Given the description of an element on the screen output the (x, y) to click on. 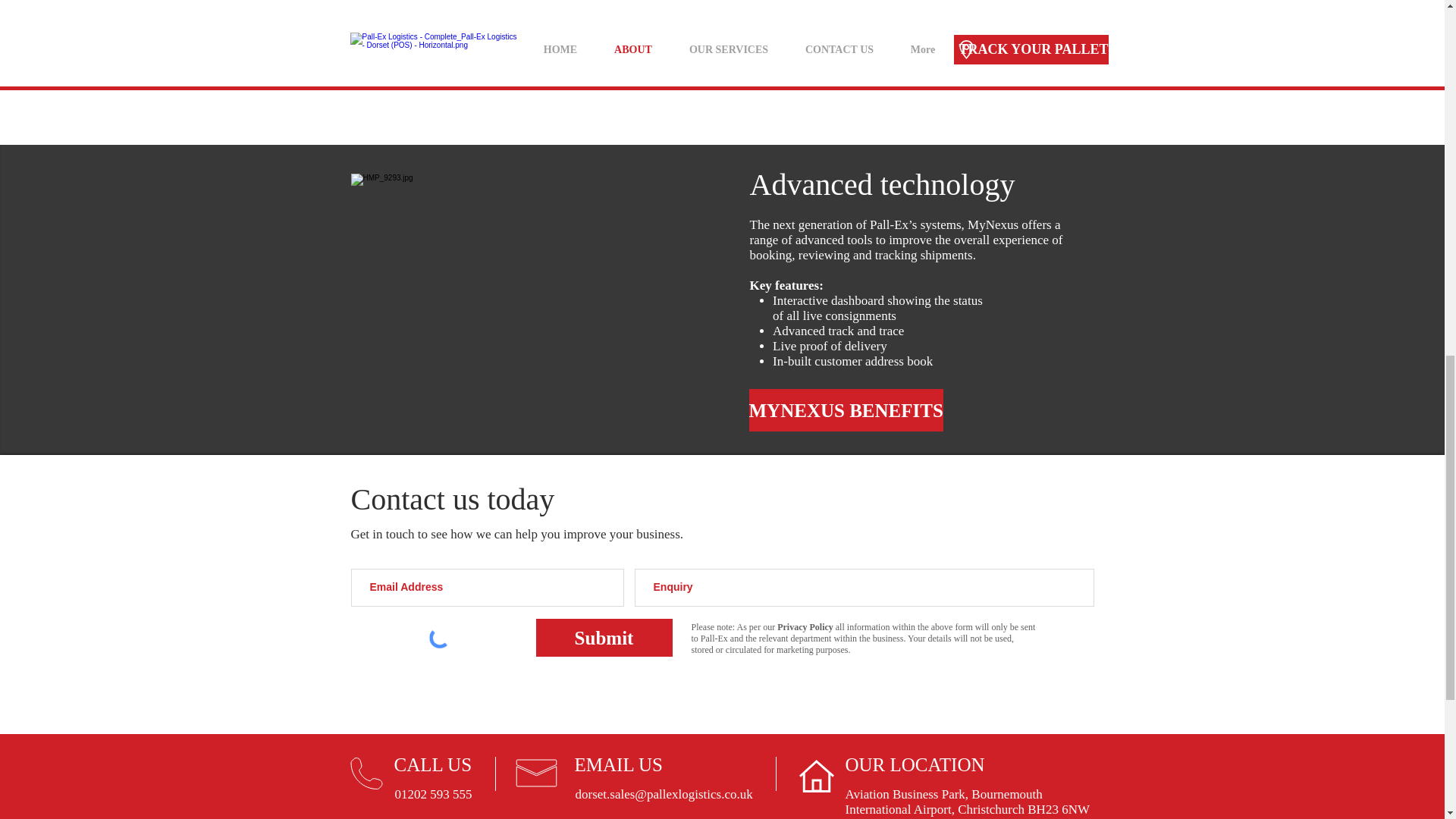
Privacy Policy (804, 626)
MYNEXUS BENEFITS (846, 410)
01202 593 555 (432, 794)
Submit (603, 637)
